Given the description of an element on the screen output the (x, y) to click on. 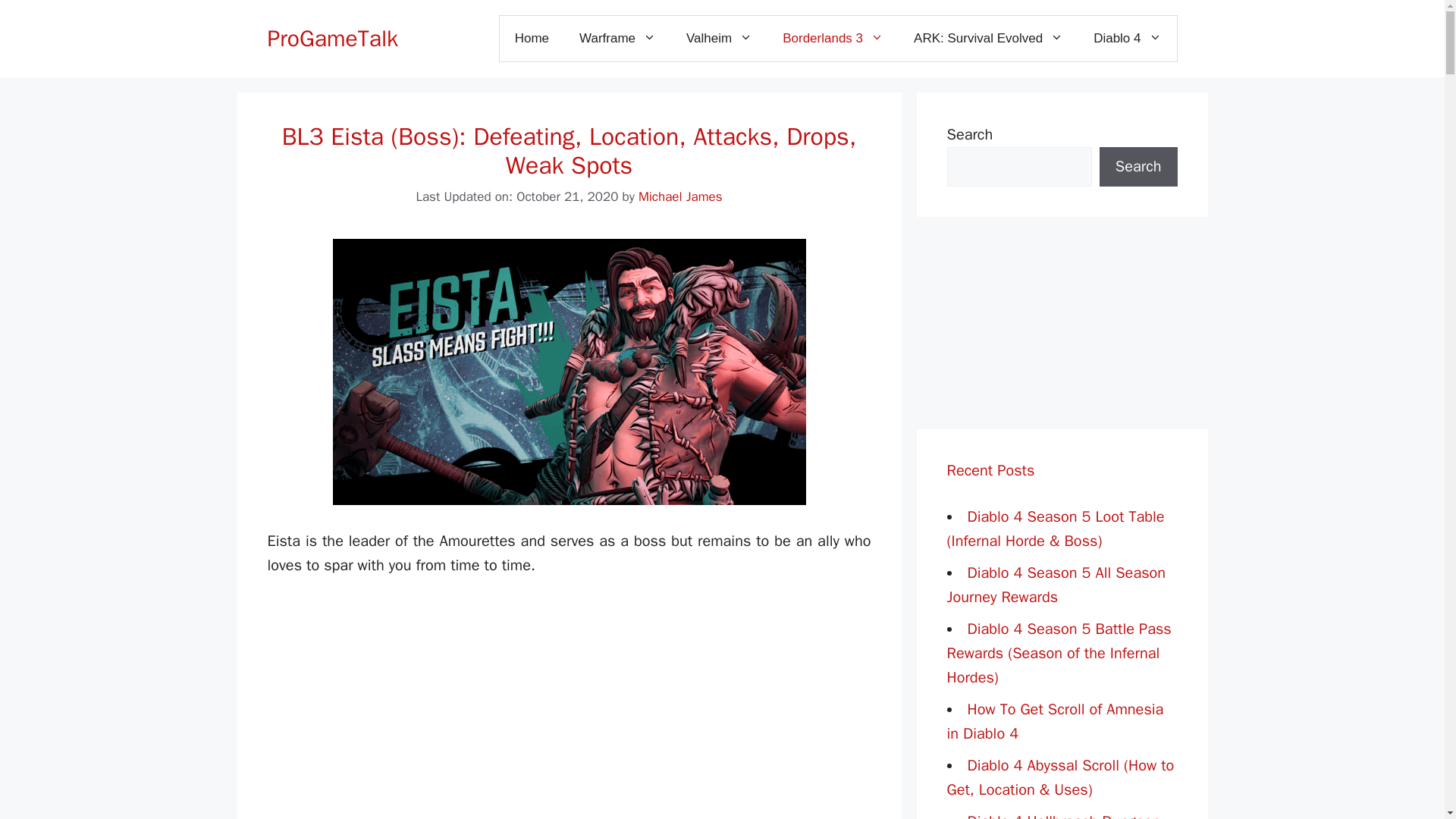
View all posts by Michael James (680, 196)
Borderlands 3 (832, 38)
Warframe (617, 38)
Valheim (719, 38)
ARK: Survival Evolved (988, 38)
ProGameTalk (331, 38)
Diablo 4 (1127, 38)
Home (531, 38)
